Given the description of an element on the screen output the (x, y) to click on. 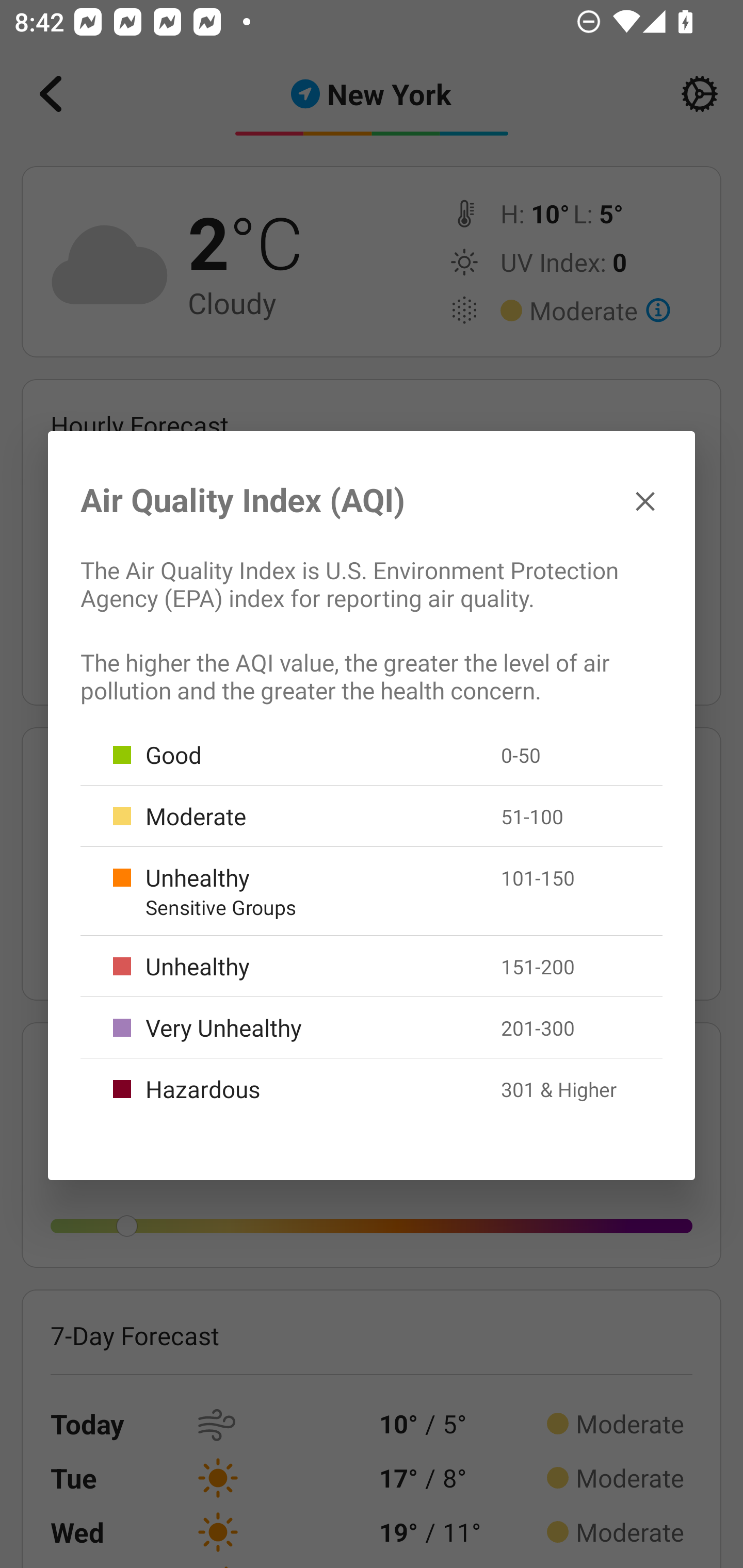
✕ (644, 499)
